Given the description of an element on the screen output the (x, y) to click on. 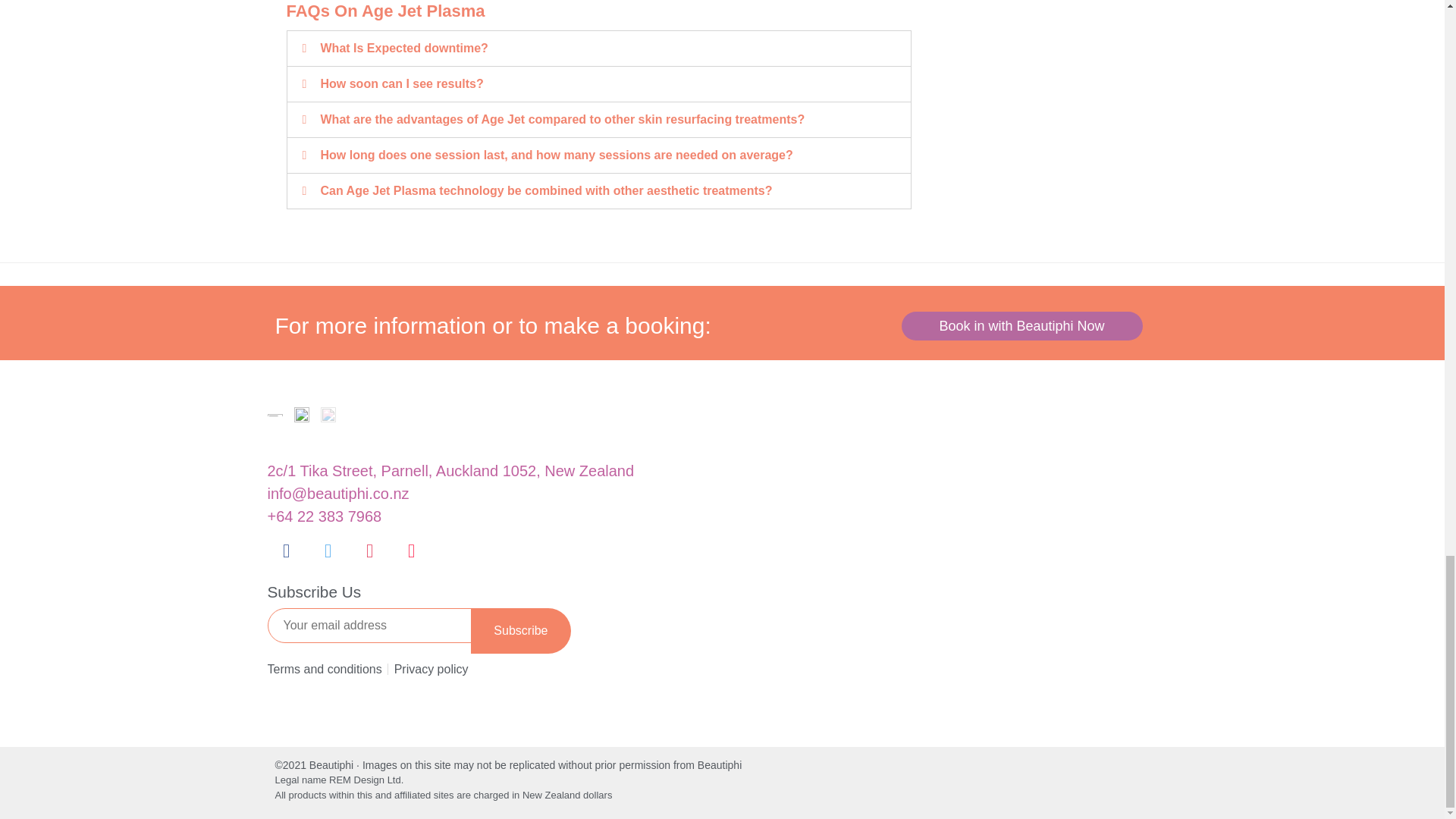
Subscribe (520, 630)
